Given the description of an element on the screen output the (x, y) to click on. 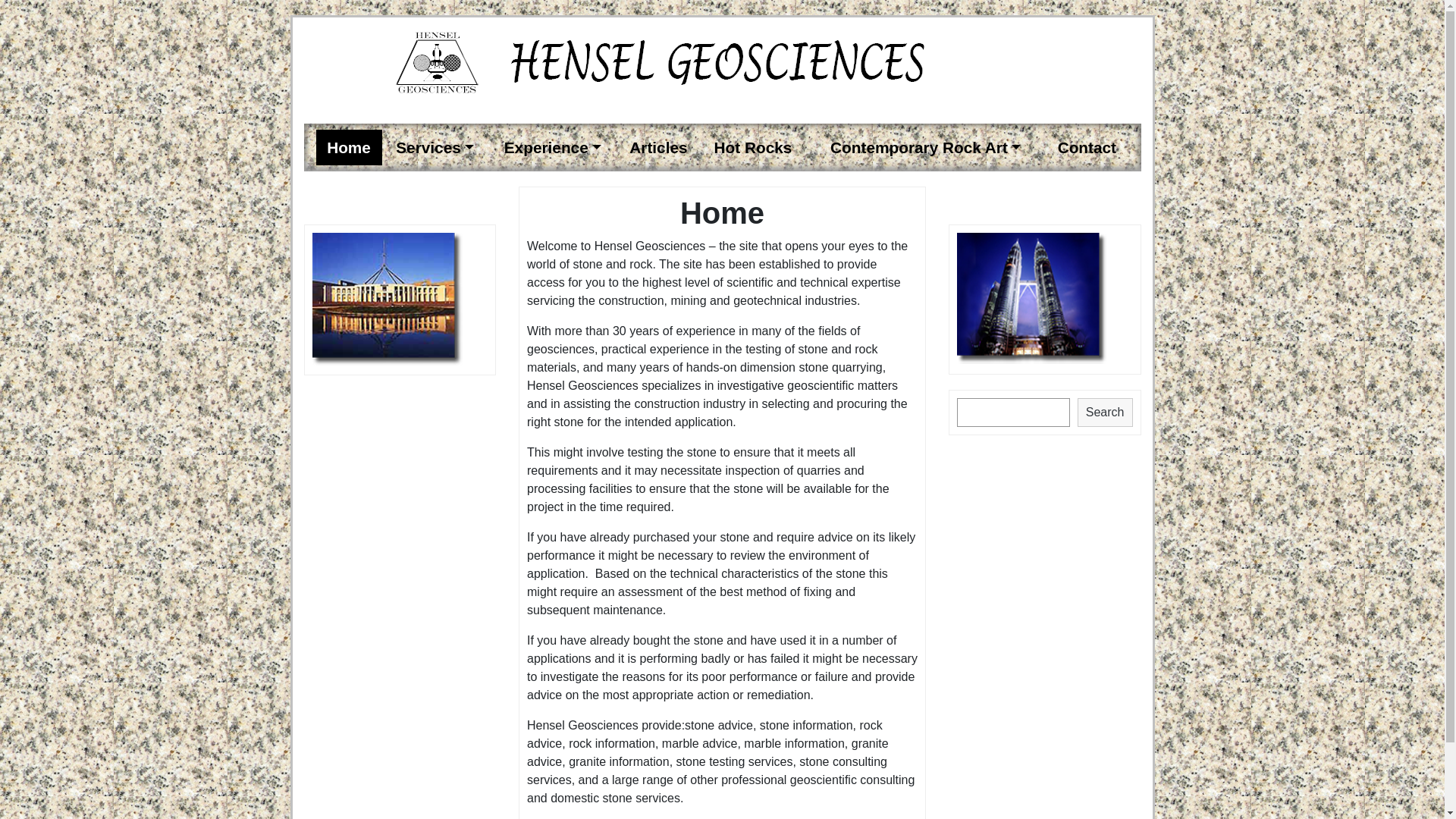
Contact Element type: text (1086, 147)
Services Element type: text (435, 147)
Hot Rocks Element type: text (752, 147)
Contemporary Rock Art Element type: text (925, 147)
Hensel Geosciences Element type: hover (722, 61)
Home Element type: text (348, 147)
Search Element type: text (1104, 412)
Articles Element type: text (658, 147)
Experience Element type: text (552, 147)
